Given the description of an element on the screen output the (x, y) to click on. 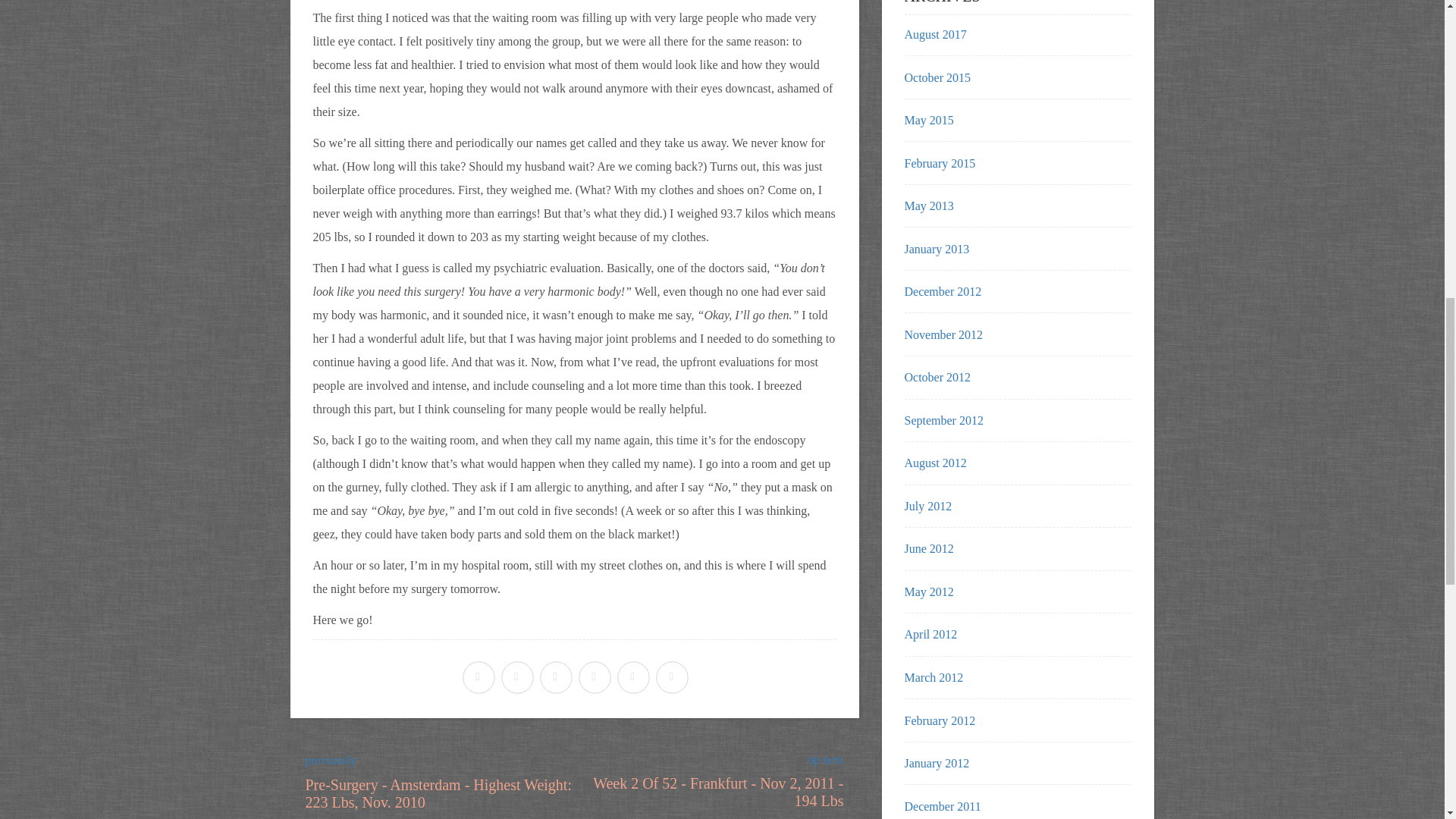
January 2013 (936, 248)
August 2017 (935, 33)
December 2012 (942, 291)
November 2012 (943, 334)
May 2013 (928, 205)
October 2012 (937, 377)
October 2015 (722, 770)
May 2015 (937, 77)
Week 2 of 52 - Frankfurt - Nov 2, 2011 - 194 lbs (928, 119)
